Given the description of an element on the screen output the (x, y) to click on. 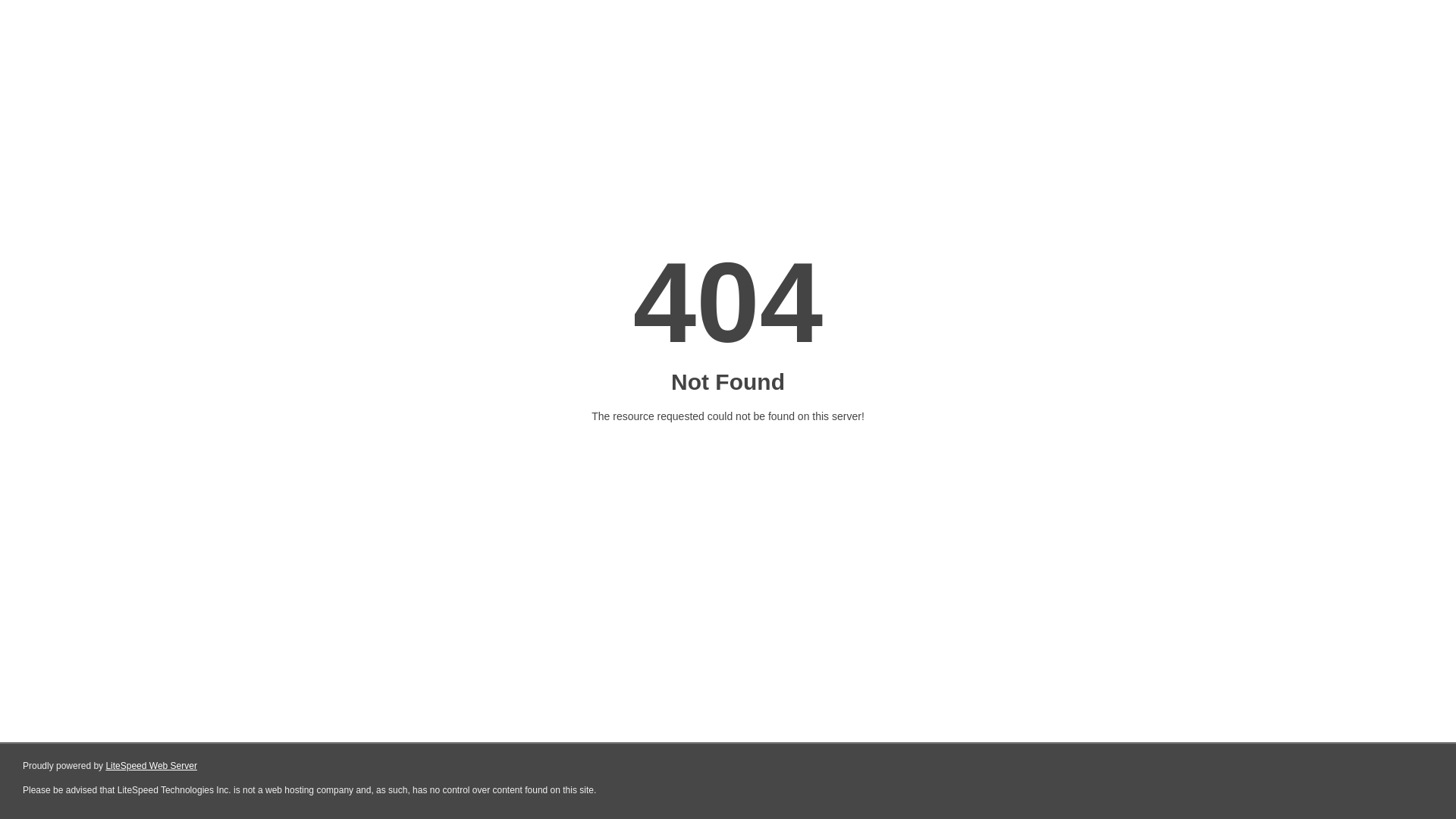
LiteSpeed Web Server Element type: text (151, 765)
